Given the description of an element on the screen output the (x, y) to click on. 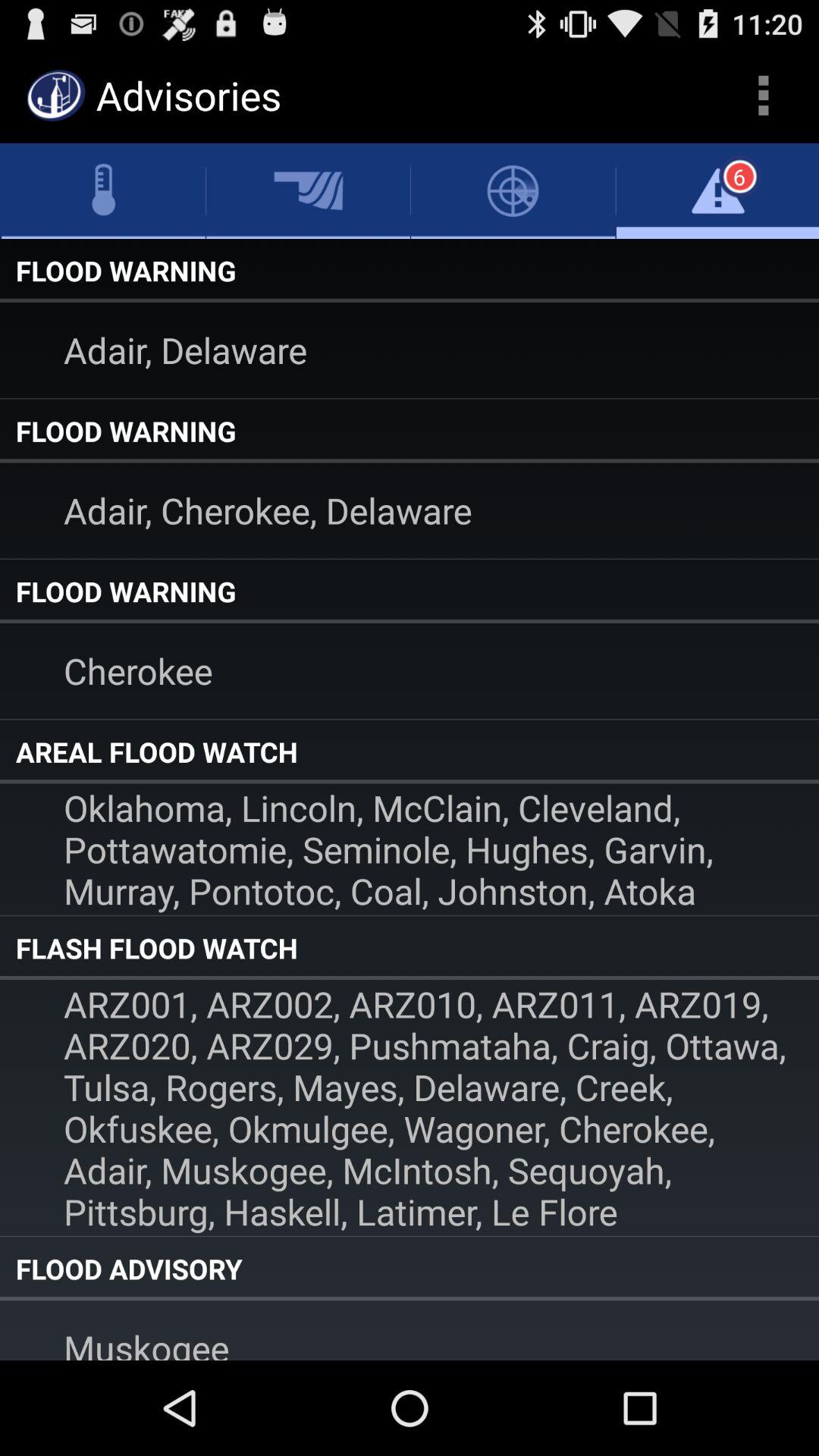
turn off the app below the flood advisory (409, 1330)
